Given the description of an element on the screen output the (x, y) to click on. 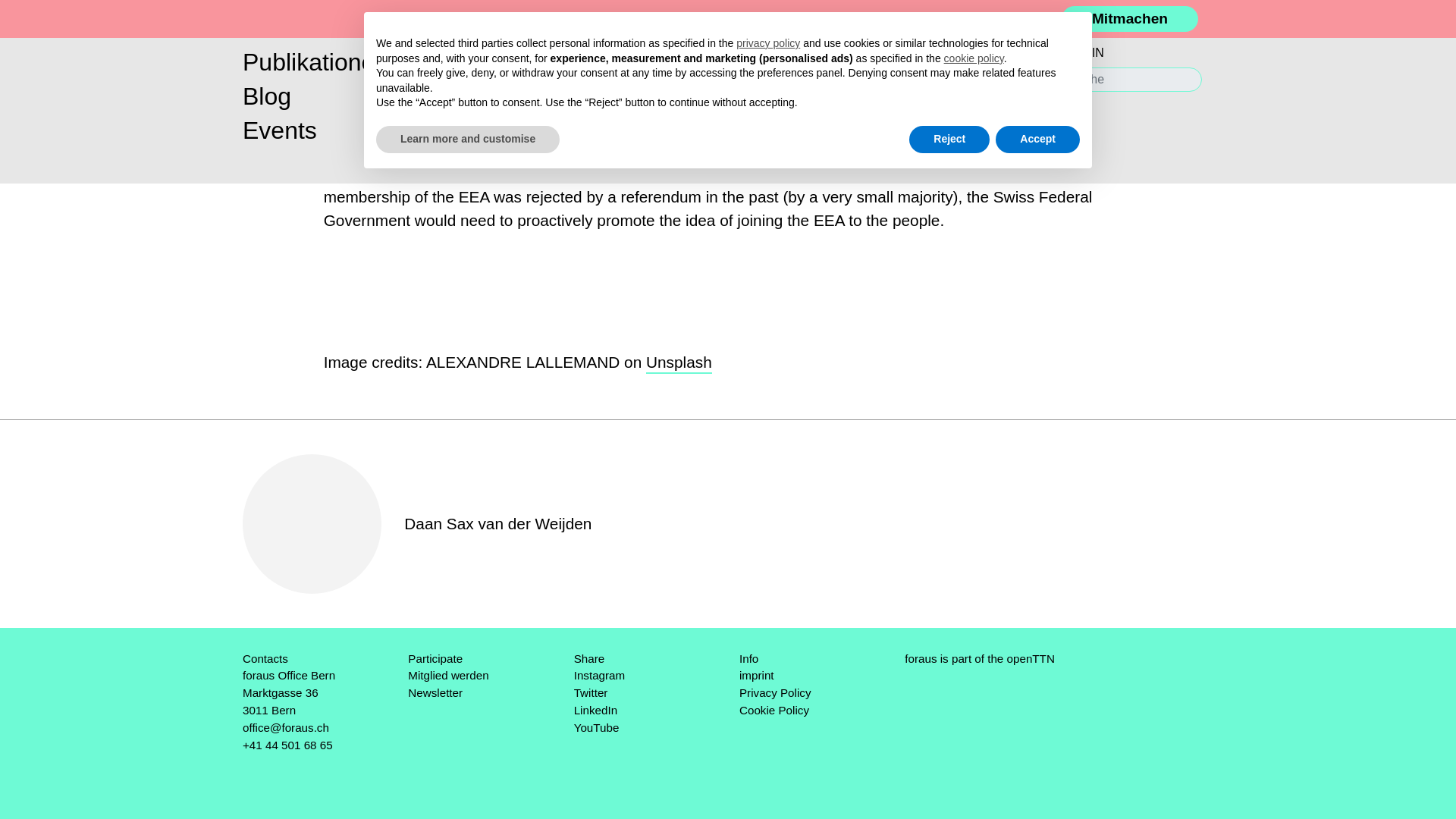
Cookie Policy (774, 709)
imprint (756, 675)
Cookie Policy  (774, 709)
Daan Sax van der Weijden (497, 523)
Twitter (590, 692)
Instagram (599, 675)
Mitglied werden (447, 675)
Newsletter (435, 692)
Privacy Policy (774, 692)
YouTube (596, 727)
